Given the description of an element on the screen output the (x, y) to click on. 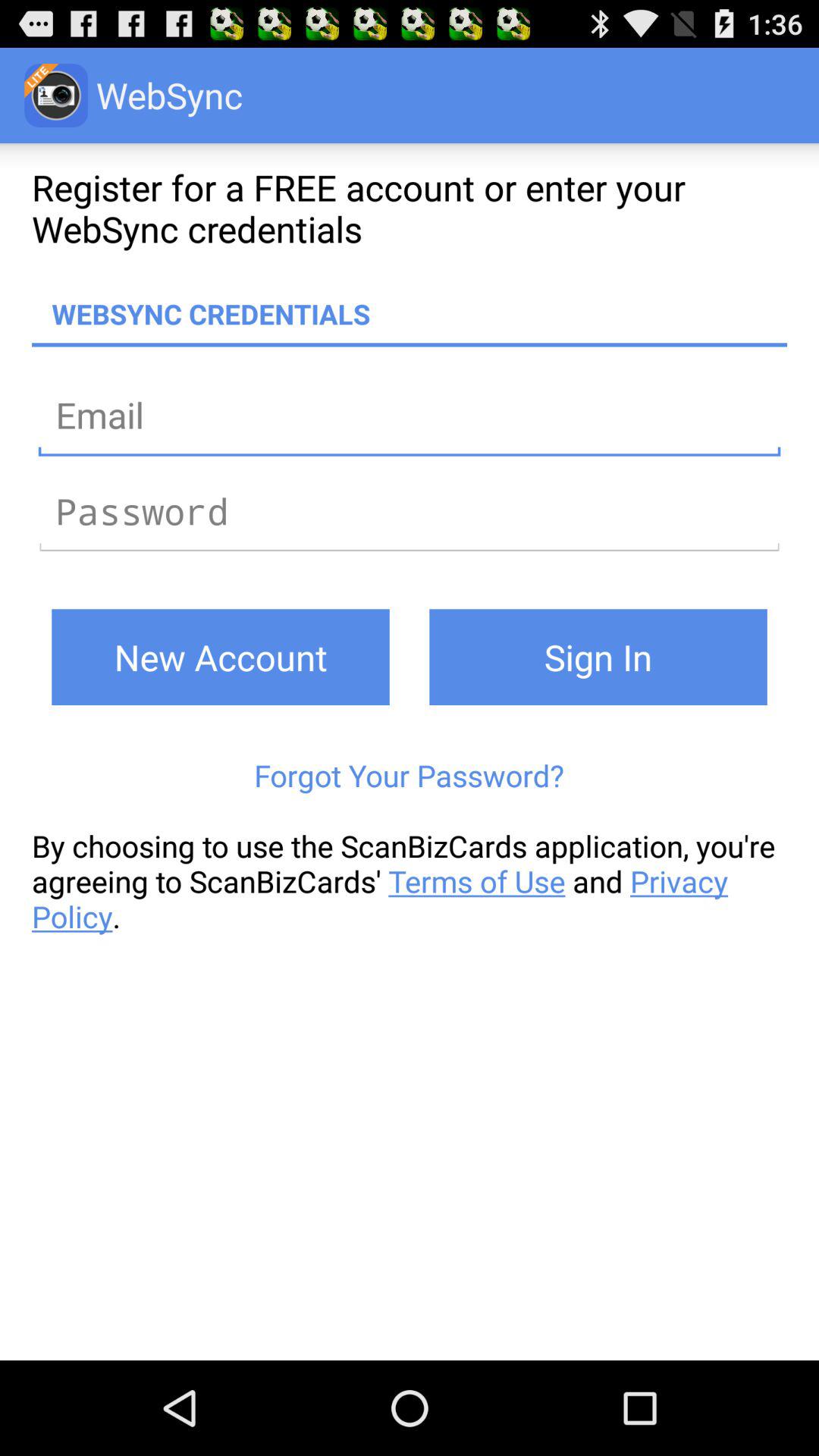
click icon above forgot your password? icon (220, 657)
